Given the description of an element on the screen output the (x, y) to click on. 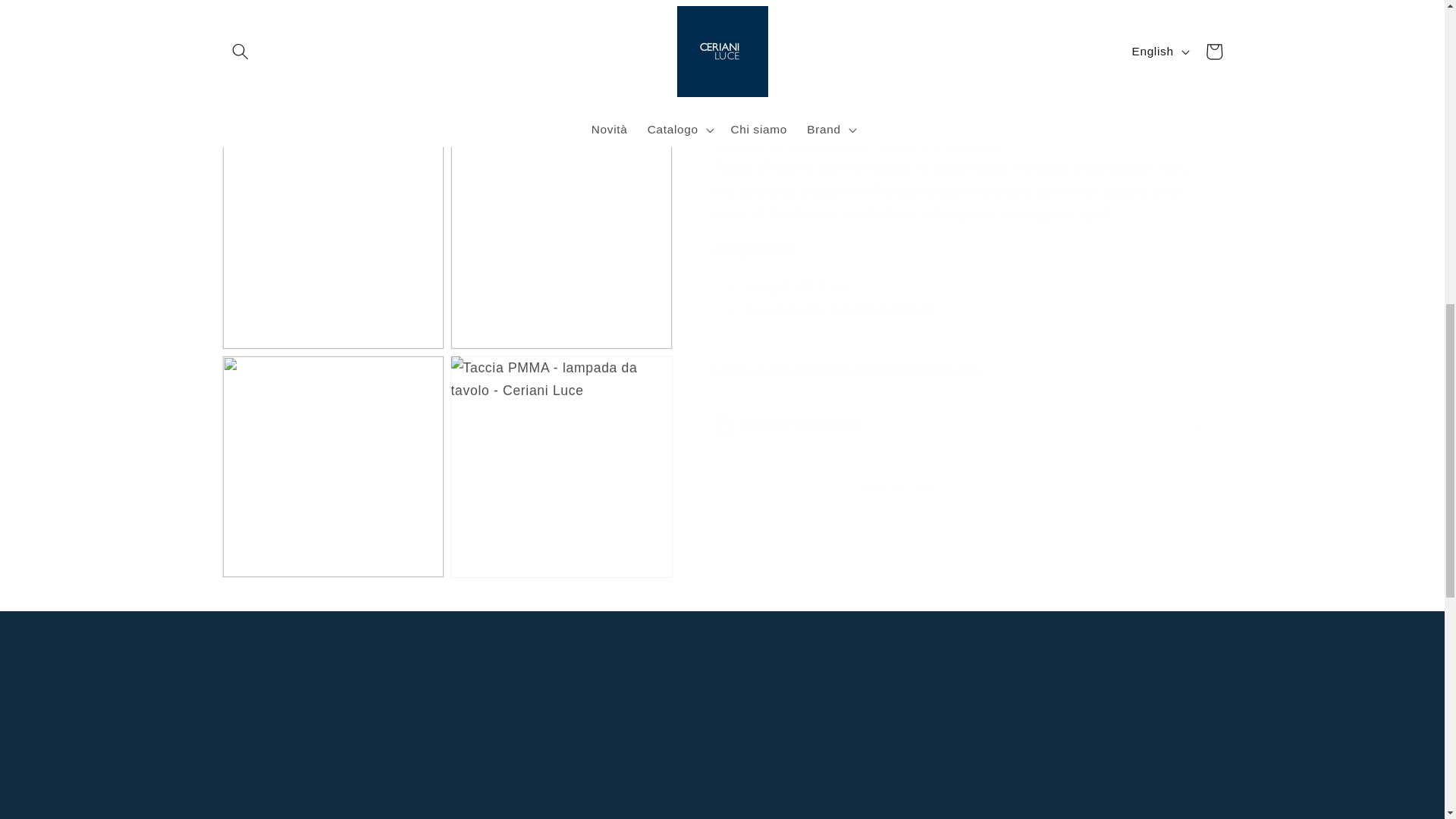
Open media 4 in modal (332, 450)
Open media 5 in modal (560, 450)
Open media 1 in modal (446, 7)
